Given the description of an element on the screen output the (x, y) to click on. 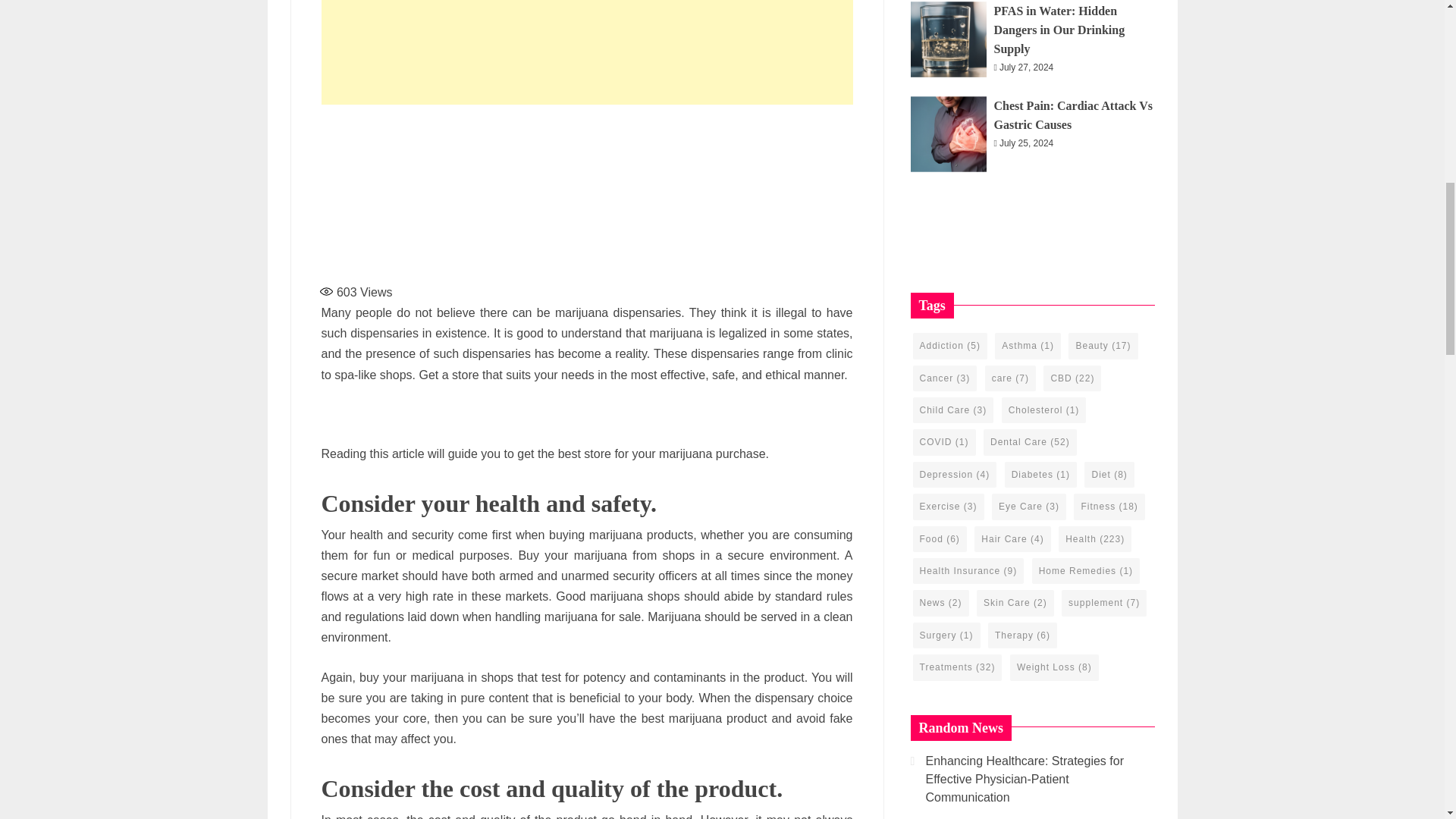
Advertisement (587, 190)
